Given the description of an element on the screen output the (x, y) to click on. 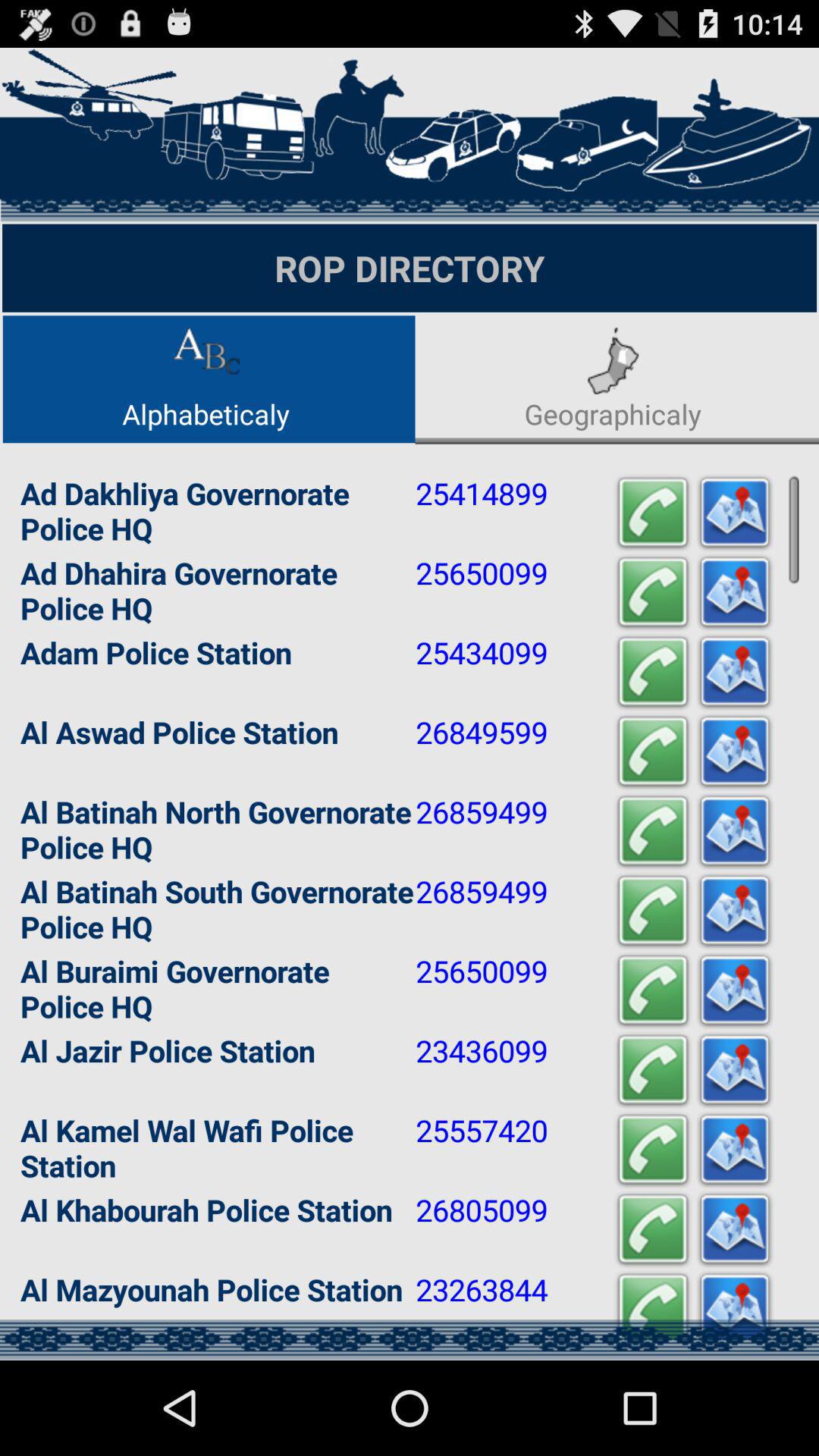
call advertisement dhahira governorate police hq (652, 592)
